Given the description of an element on the screen output the (x, y) to click on. 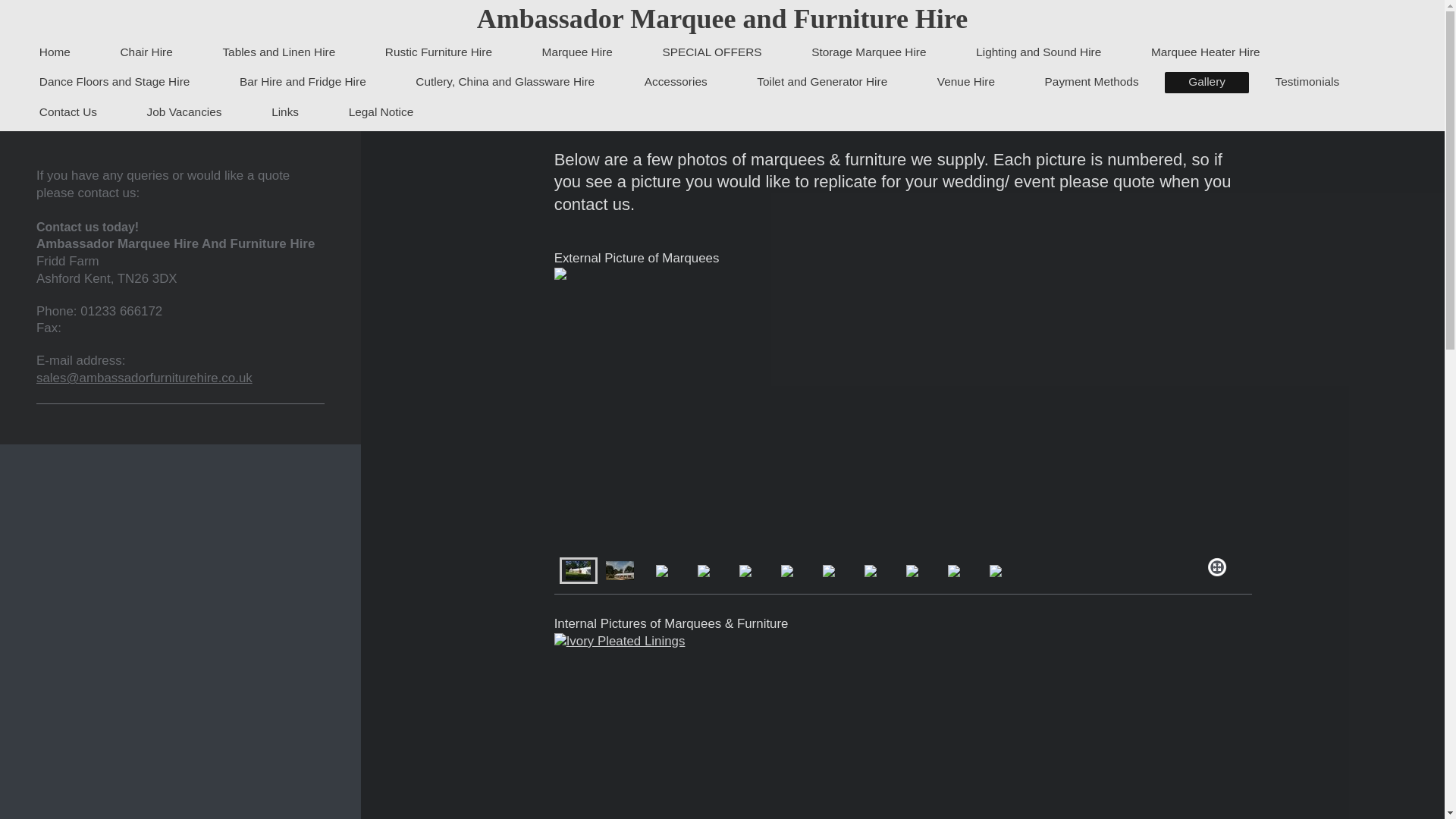
SPECIAL OFFERS (712, 52)
Marquee Heater Hire (1204, 52)
Ambassador Marquee and Furniture Hire (722, 19)
Chair Hire (146, 52)
Marquee Hire (577, 52)
Cutlery, China and Glassware Hire (505, 82)
Ivory Pleated Linings (903, 726)
Home (55, 52)
Rustic Furniture Hire (438, 52)
Bar Hire and Fridge Hire (301, 82)
